Given the description of an element on the screen output the (x, y) to click on. 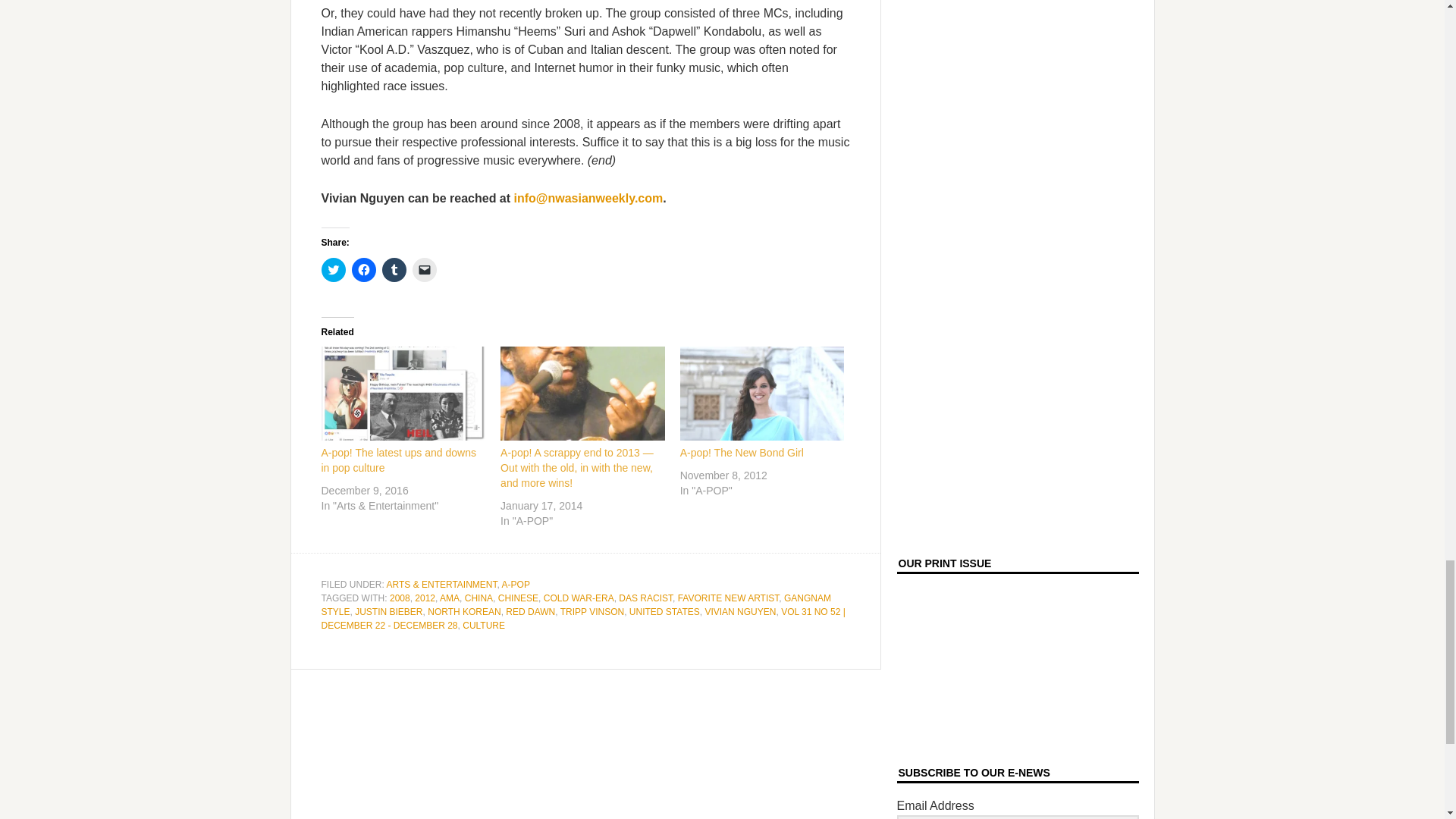
Click to share on Tumblr (393, 269)
Click to share on Twitter (333, 269)
Click to email a link to a friend (424, 269)
A-pop! The latest ups and downs  in pop culture (403, 393)
Click to share on Facebook (363, 269)
A-pop! The New Bond Girl (761, 393)
A-pop! The New Bond Girl (741, 452)
A-pop! The latest ups and downs  in pop culture (398, 460)
